Given the description of an element on the screen output the (x, y) to click on. 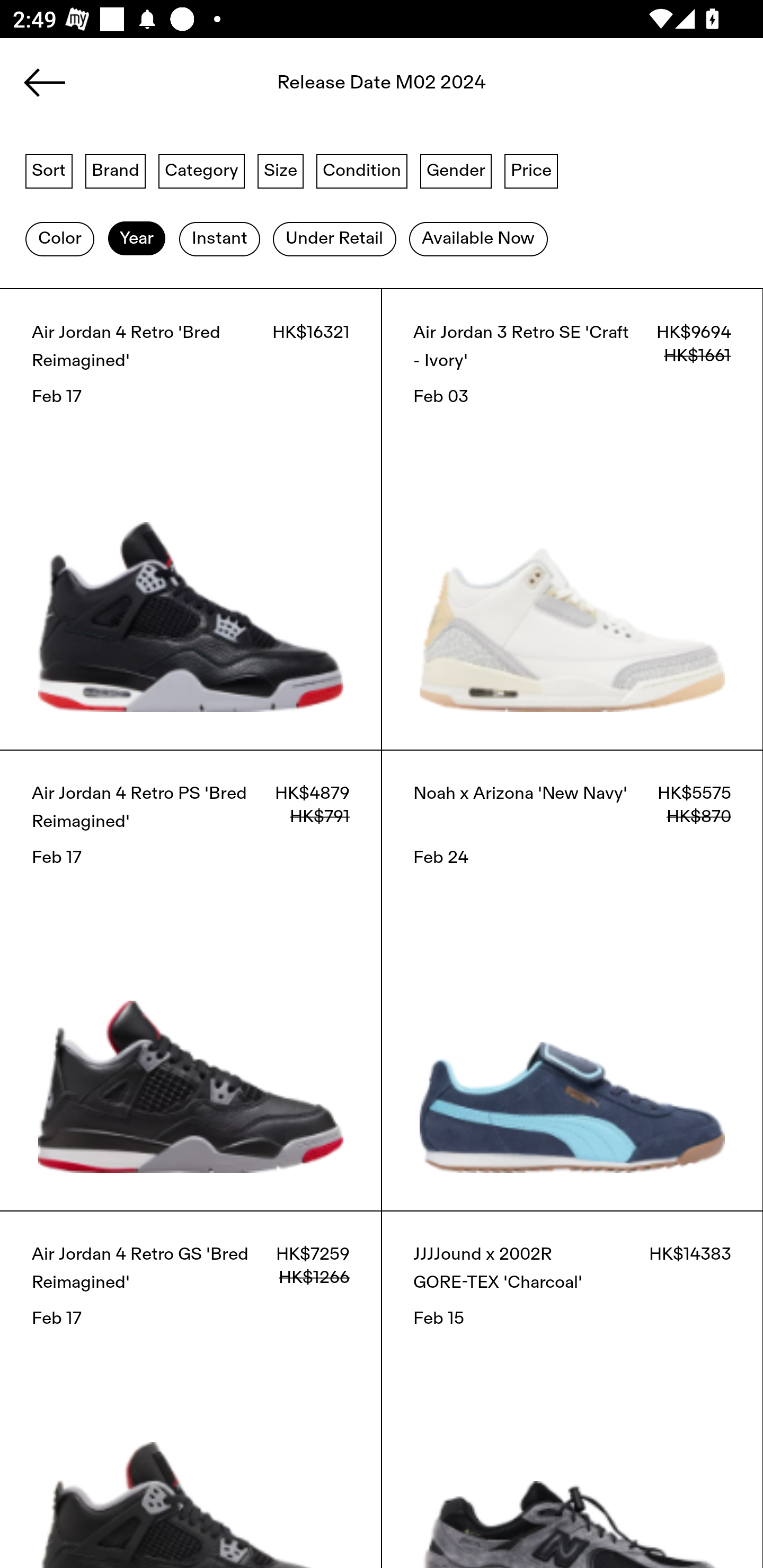
Sort (48, 170)
Brand (115, 170)
Category (201, 170)
Size (280, 170)
Condition (361, 170)
Gender (455, 170)
Price (530, 170)
Color (59, 239)
Year (136, 239)
Instant (219, 239)
Under Retail (334, 239)
Available Now (477, 239)
Noah x Arizona 'New Navy' HK$5575 HK$870 Feb 24 (572, 979)
